Given the description of an element on the screen output the (x, y) to click on. 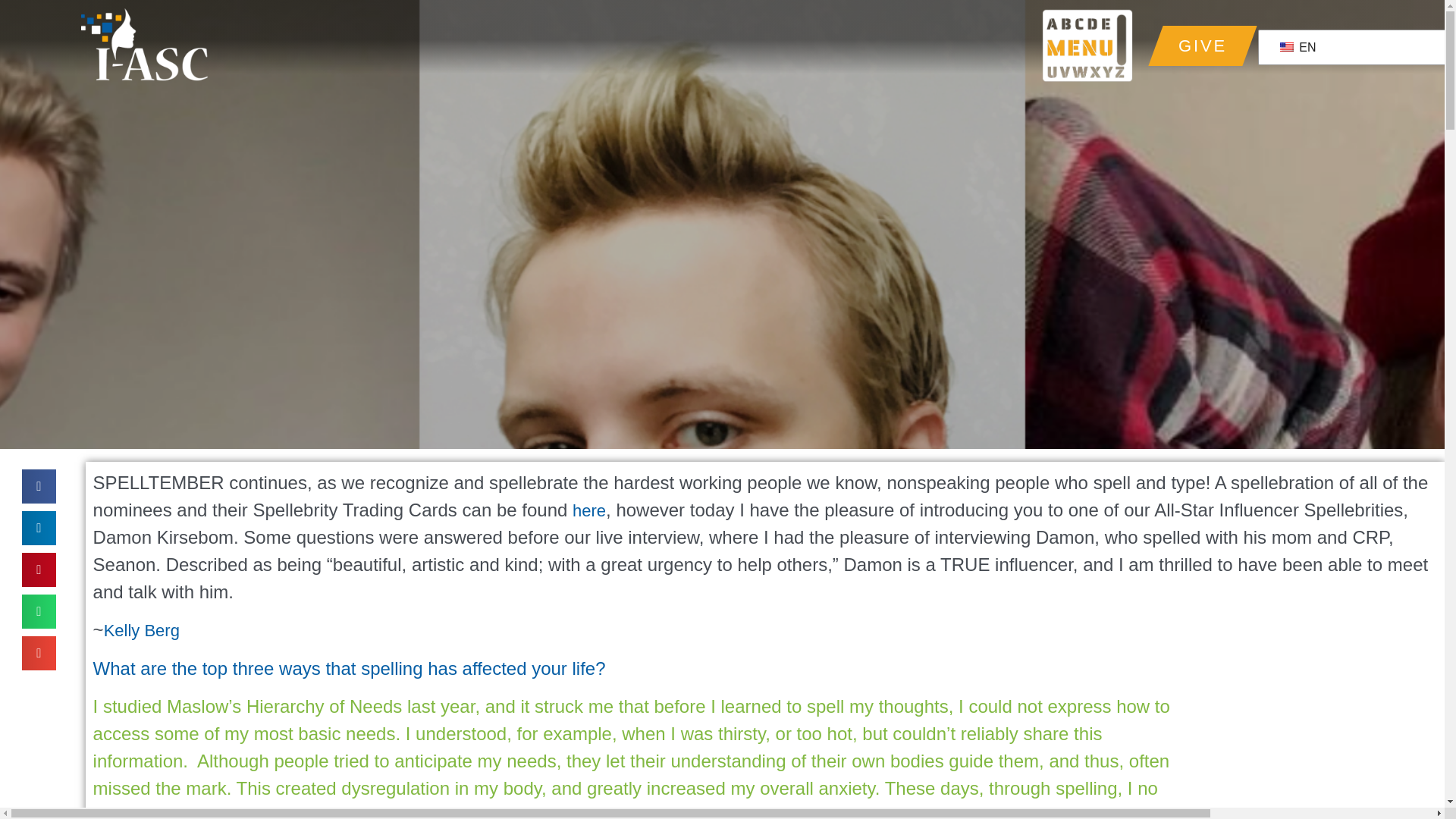
English (1286, 46)
English (1362, 47)
